Given the description of an element on the screen output the (x, y) to click on. 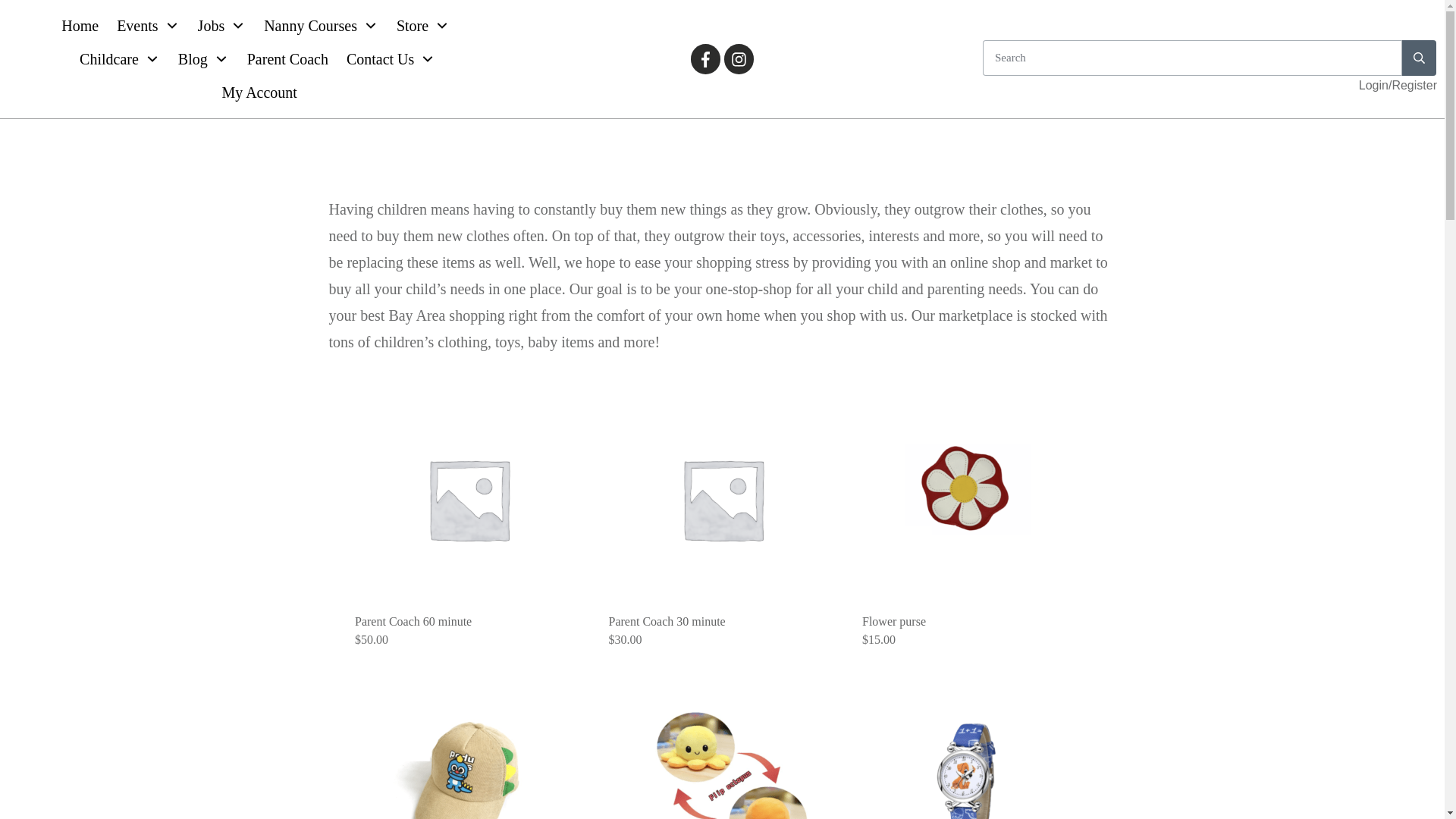
Childcare (120, 59)
Blog (202, 59)
My Account (259, 91)
Parent Coach (288, 59)
Jobs (222, 25)
Parent Coach 30 minute (666, 621)
Home (80, 25)
Events (147, 25)
Nanny Courses (320, 25)
Contact Us (390, 59)
Store (422, 25)
Parent Coach 60 minute (413, 621)
Flower purse (893, 621)
